Given the description of an element on the screen output the (x, y) to click on. 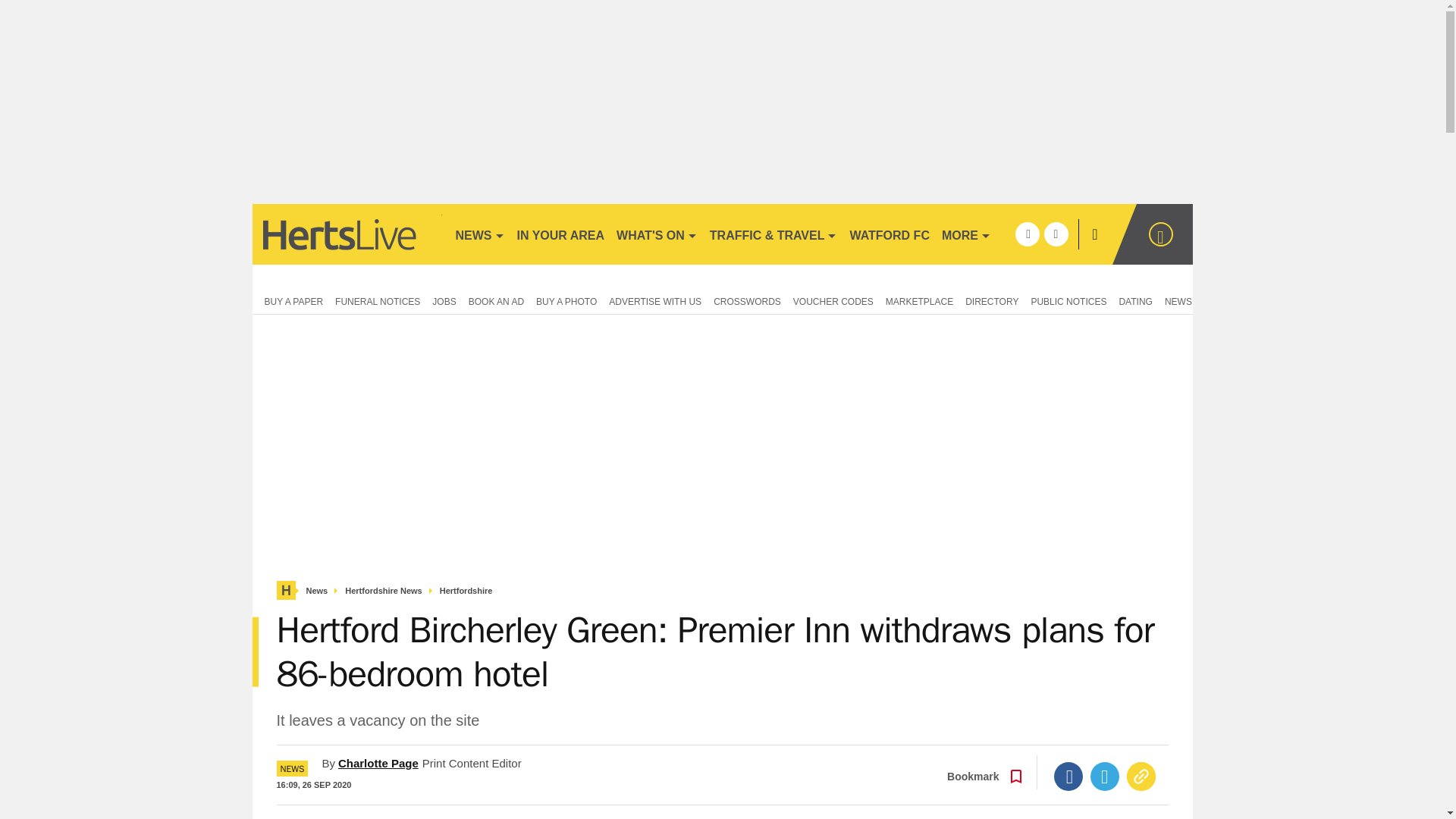
Twitter (1104, 776)
WHAT'S ON (656, 233)
WATFORD FC (888, 233)
facebook (1026, 233)
twitter (1055, 233)
IN YOUR AREA (561, 233)
MORE (966, 233)
hertfordshiremercury (346, 233)
NEWS (479, 233)
Facebook (1068, 776)
